Given the description of an element on the screen output the (x, y) to click on. 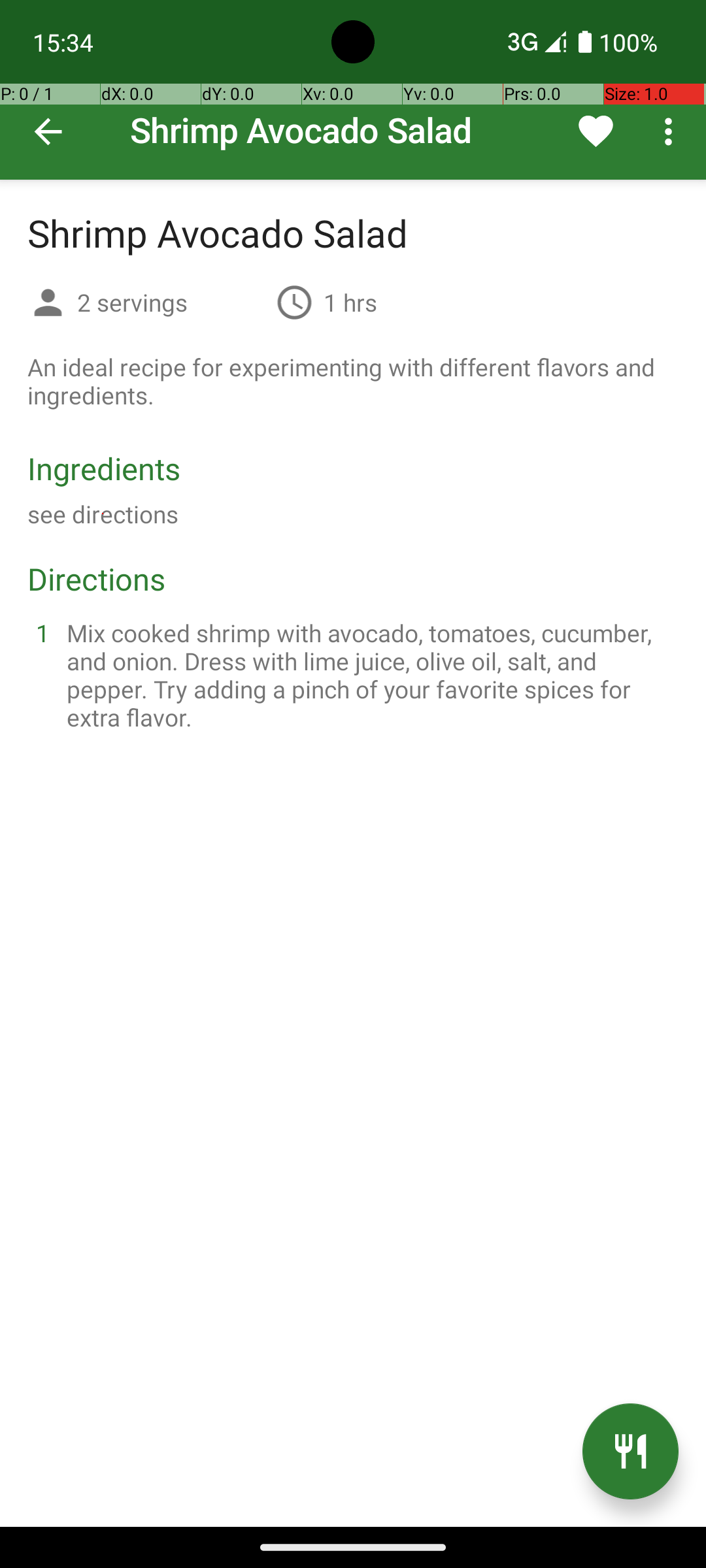
Shrimp Avocado Salad Element type: android.widget.FrameLayout (353, 89)
2 servings Element type: android.widget.TextView (170, 301)
1 hrs Element type: android.widget.TextView (350, 301)
see directions Element type: android.widget.TextView (102, 513)
Mix cooked shrimp with avocado, tomatoes, cucumber, and onion. Dress with lime juice, olive oil, salt, and pepper. Try adding a pinch of your favorite spices for extra flavor. Element type: android.widget.TextView (368, 674)
